Given the description of an element on the screen output the (x, y) to click on. 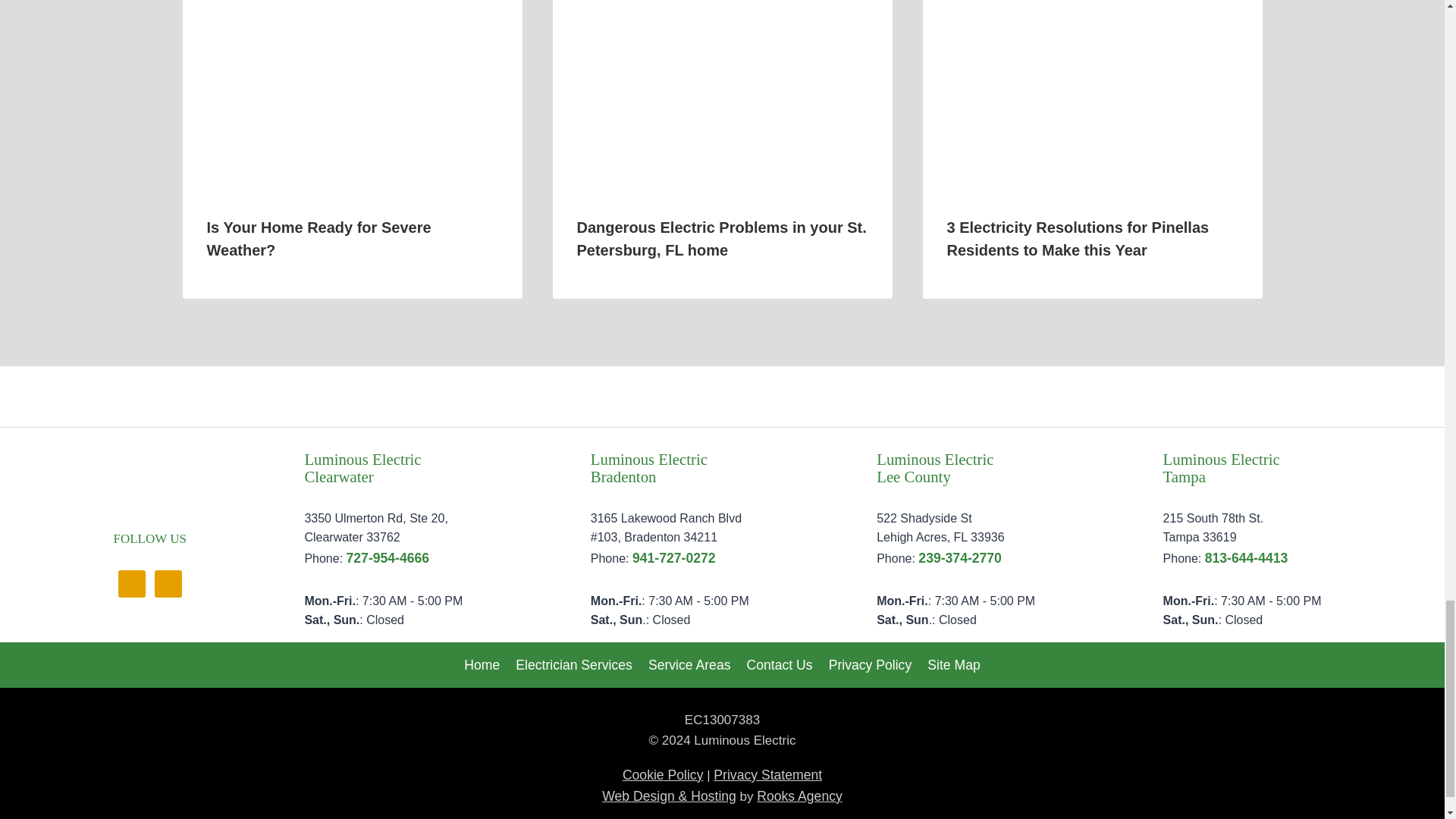
Tampa-Sarasota Marketing Company (799, 795)
Tampa-Sarasota Web Design (669, 795)
